Given the description of an element on the screen output the (x, y) to click on. 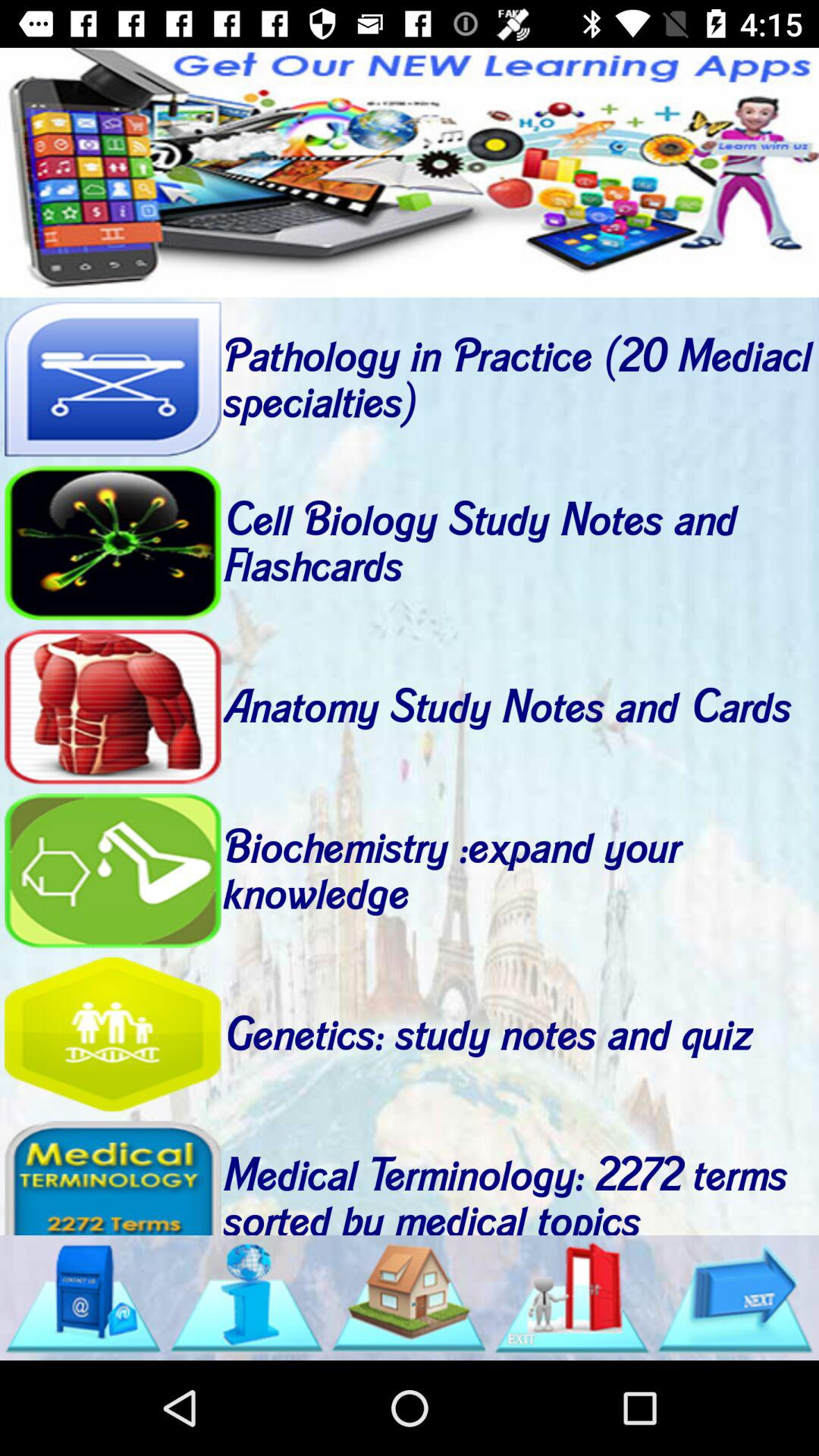
go to biochemistry (112, 870)
